Given the description of an element on the screen output the (x, y) to click on. 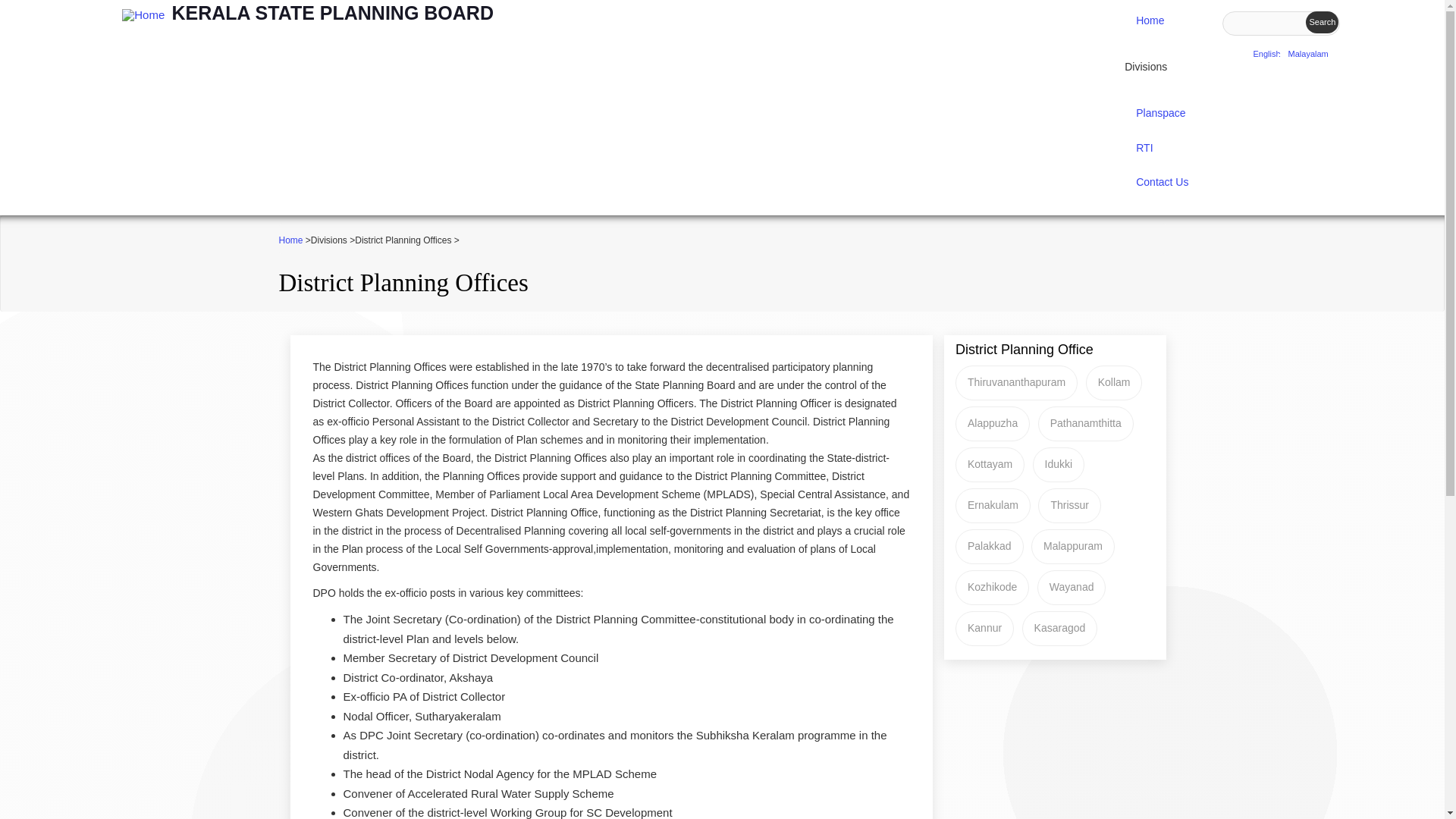
Home (332, 12)
Search (1322, 22)
KERALA STATE PLANNING BOARD (332, 12)
Home (143, 13)
Home (1161, 21)
